Given the description of an element on the screen output the (x, y) to click on. 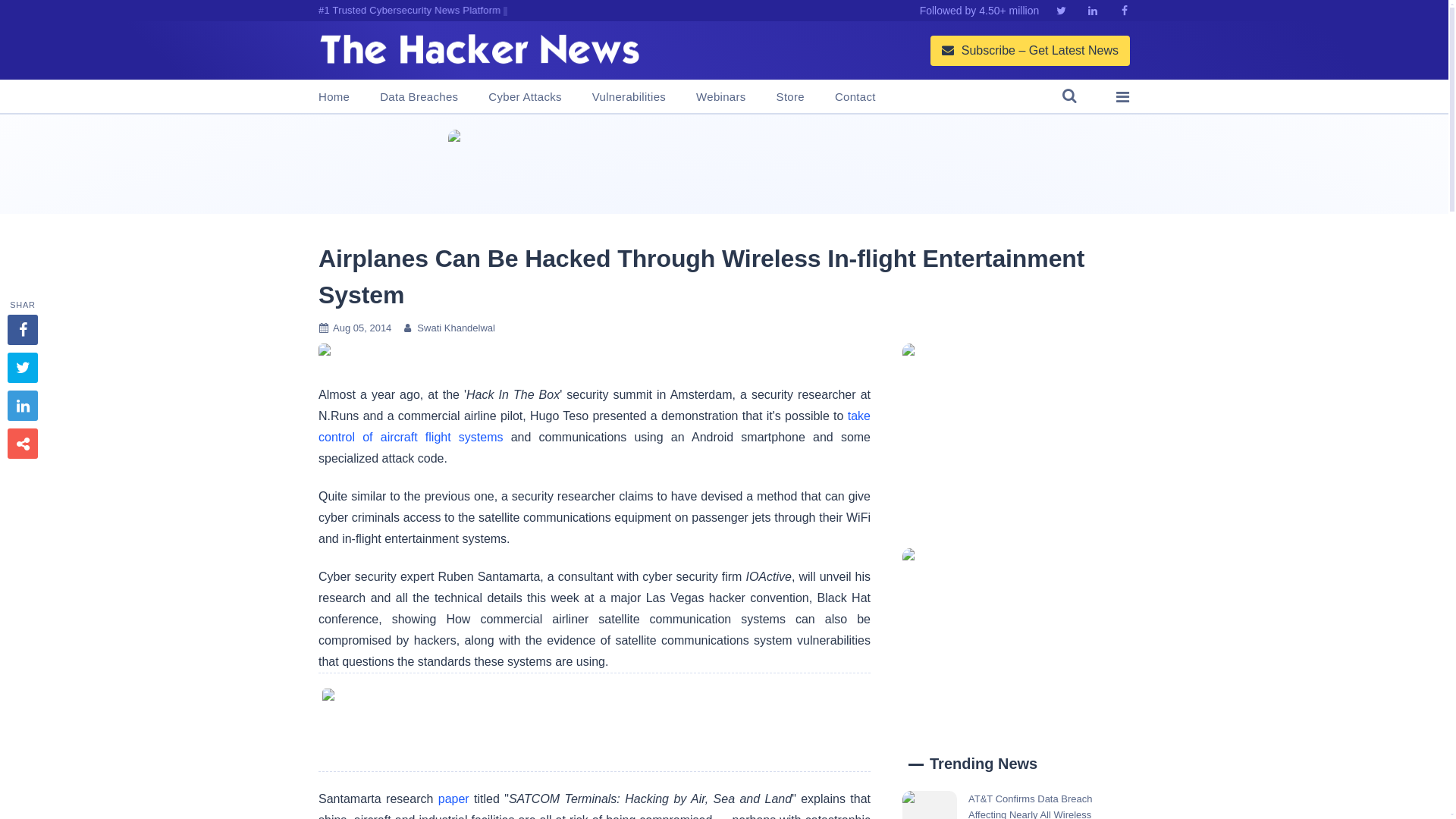
Cyber Attacks (523, 96)
Vulnerabilities (628, 96)
Contact (855, 96)
Insider Risk Management (723, 164)
Webinars (720, 96)
Cybersecurity (593, 721)
Data Breaches (419, 96)
Home (333, 96)
paper (453, 798)
take control of aircraft flight systems (594, 426)
